Given the description of an element on the screen output the (x, y) to click on. 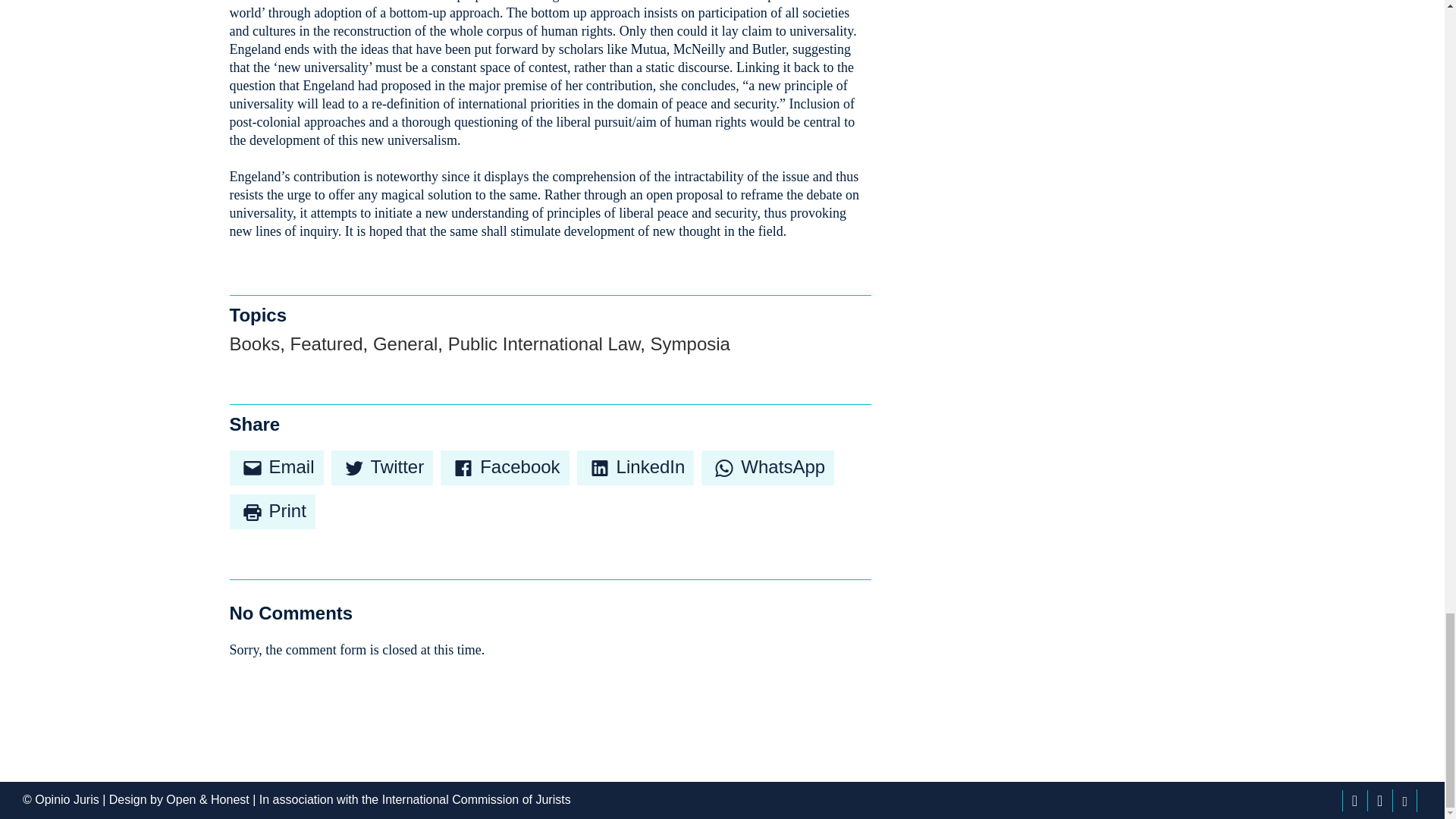
Click to print (271, 511)
Click to share on WhatsApp (767, 467)
Click to share on Twitter (382, 467)
Click to share on Facebook (505, 467)
Click to email this to a friend (275, 467)
Click to share on LinkedIn (635, 467)
